Given the description of an element on the screen output the (x, y) to click on. 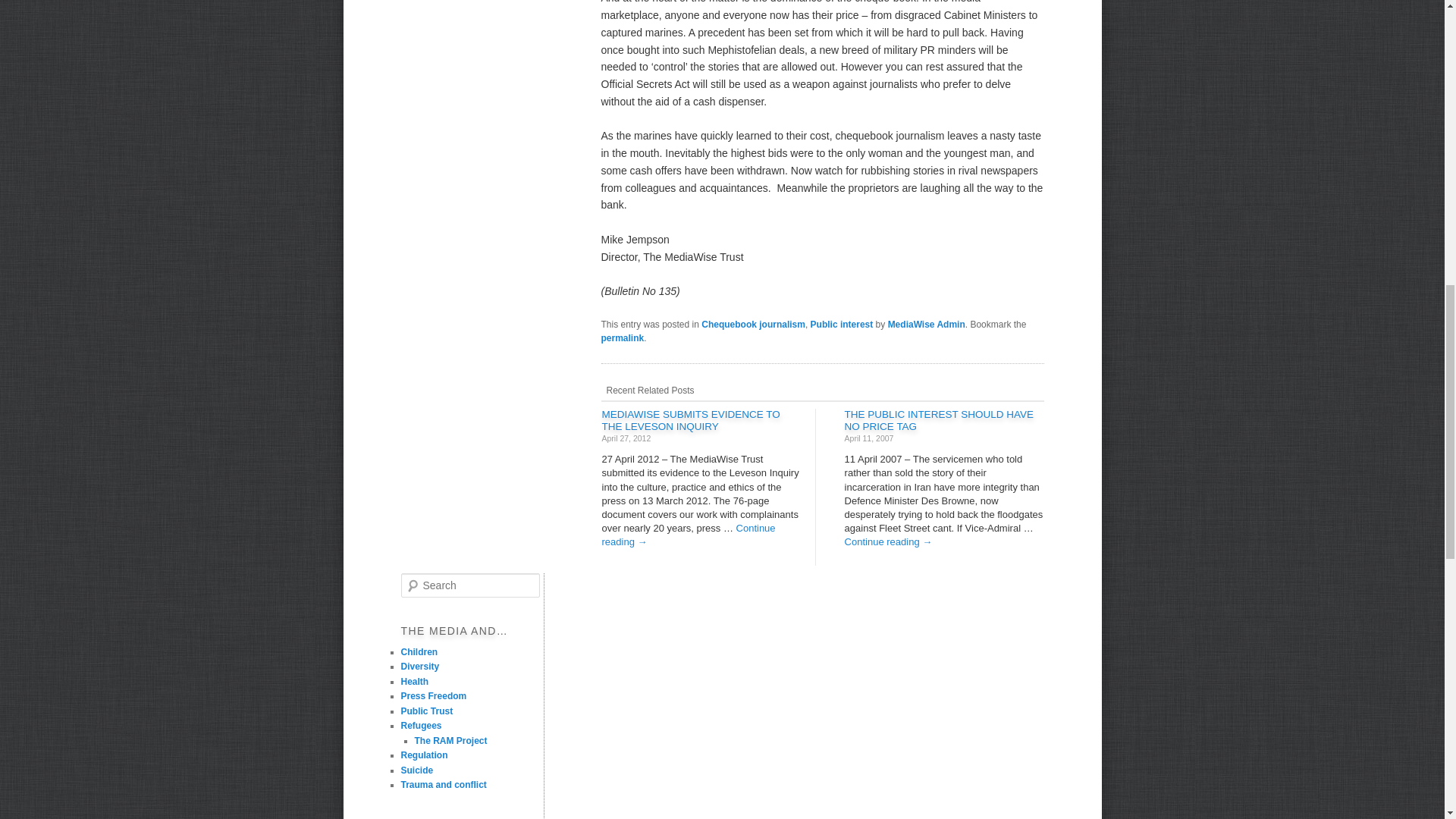
MediaWise submits evidence to the Leveson Inquiry (691, 420)
The RAM Project (450, 740)
MediaWise Admin (926, 324)
The public interest should have no price tag (938, 420)
Press Freedom (433, 696)
MEDIAWISE SUBMITS EVIDENCE TO THE LEVESON INQUIRY (691, 420)
Health (414, 681)
Permalink to The public interest should have no price tag (621, 337)
Regulation (424, 755)
Suicide (416, 769)
Chequebook journalism (753, 324)
Trauma and conflict (443, 784)
Refugees (421, 725)
Public interest (841, 324)
Diversity (420, 665)
